Given the description of an element on the screen output the (x, y) to click on. 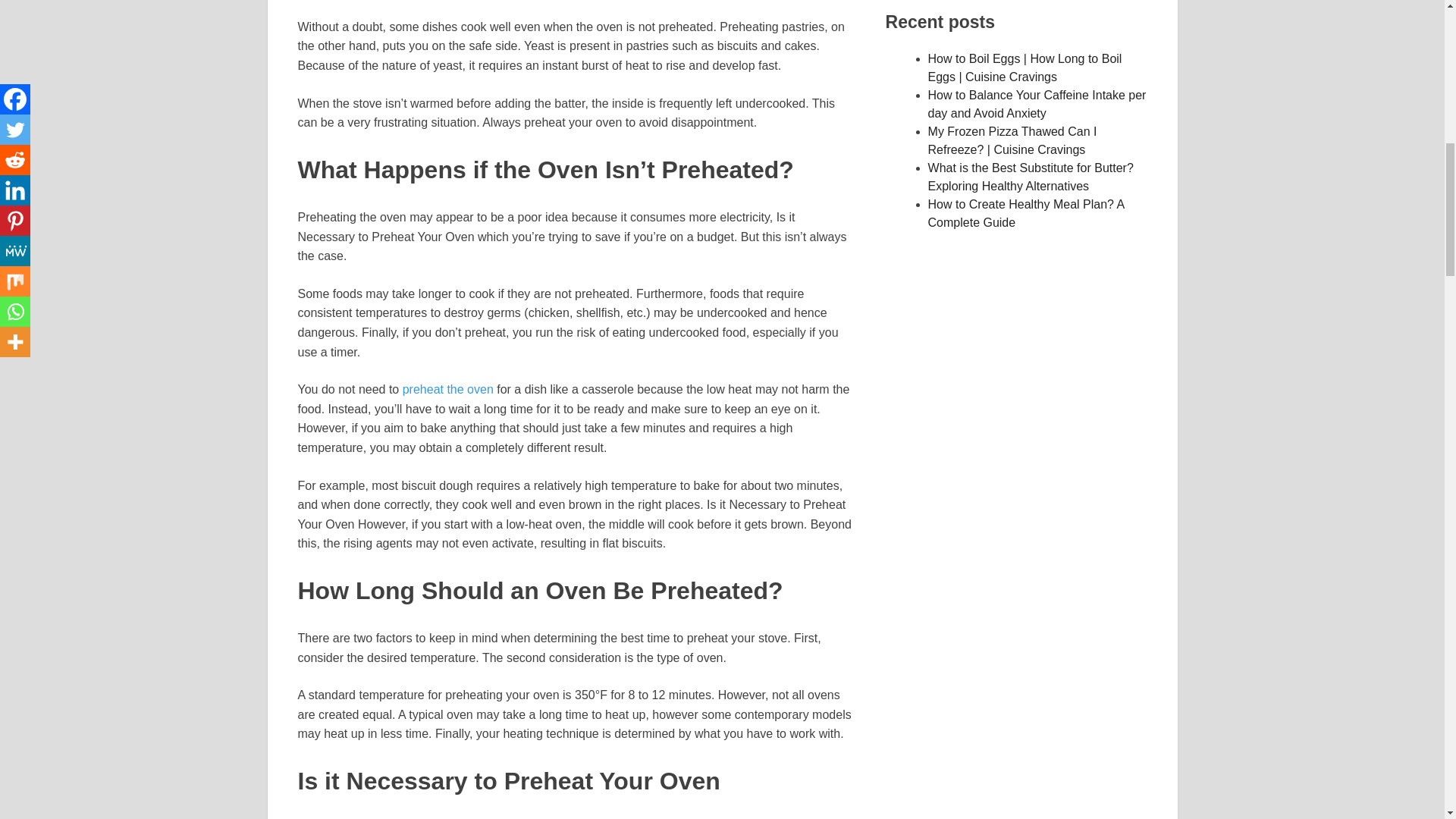
preheat the oven (448, 389)
